Given the description of an element on the screen output the (x, y) to click on. 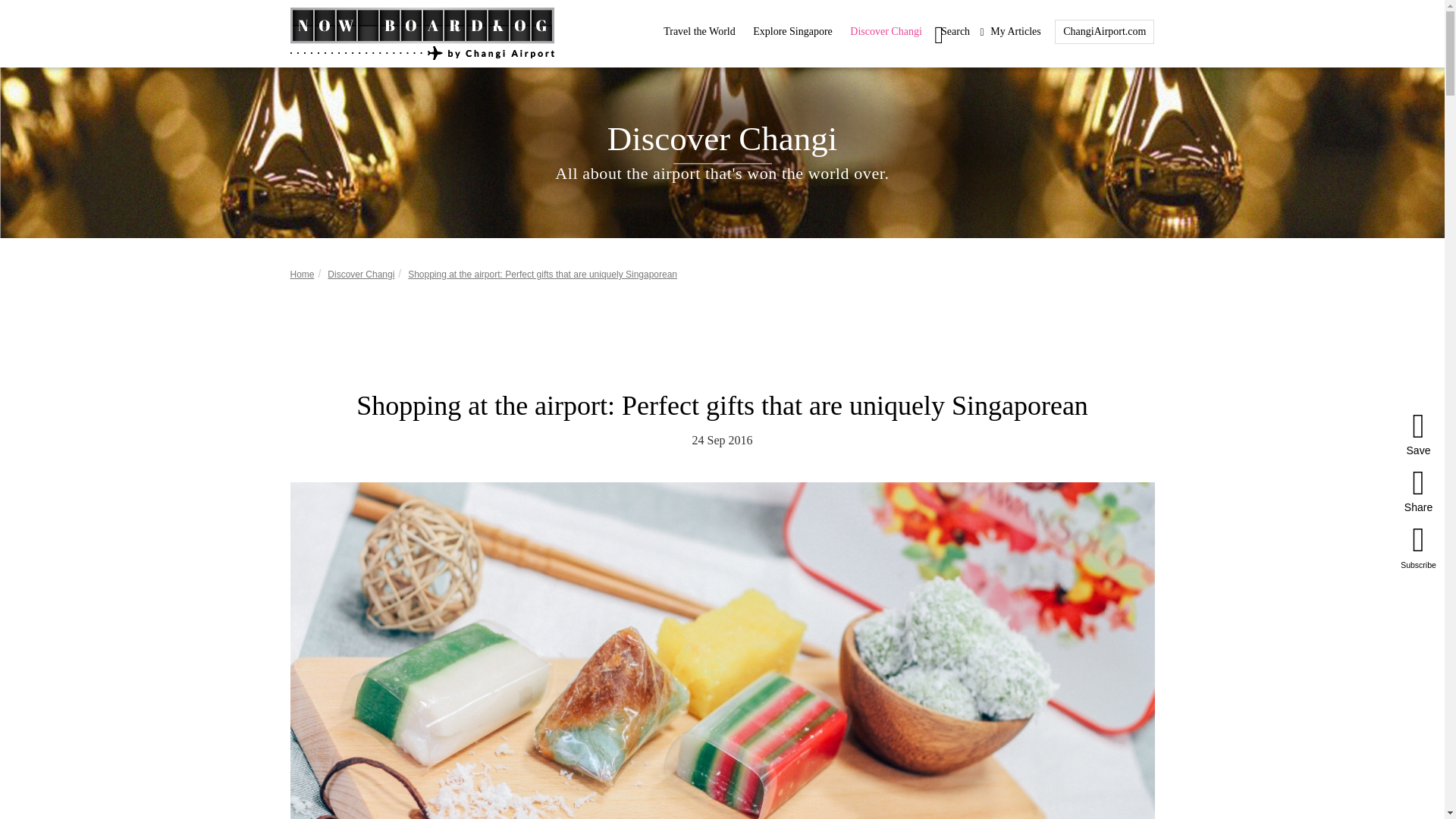
Home (301, 274)
Discover Changi (885, 30)
Explore Singapore (792, 30)
Travel the World (699, 30)
My Articles (1010, 31)
Discover Changi (360, 274)
Search (950, 30)
Advertisement (721, 337)
ChangiAirport.com (1103, 30)
